Given the description of an element on the screen output the (x, y) to click on. 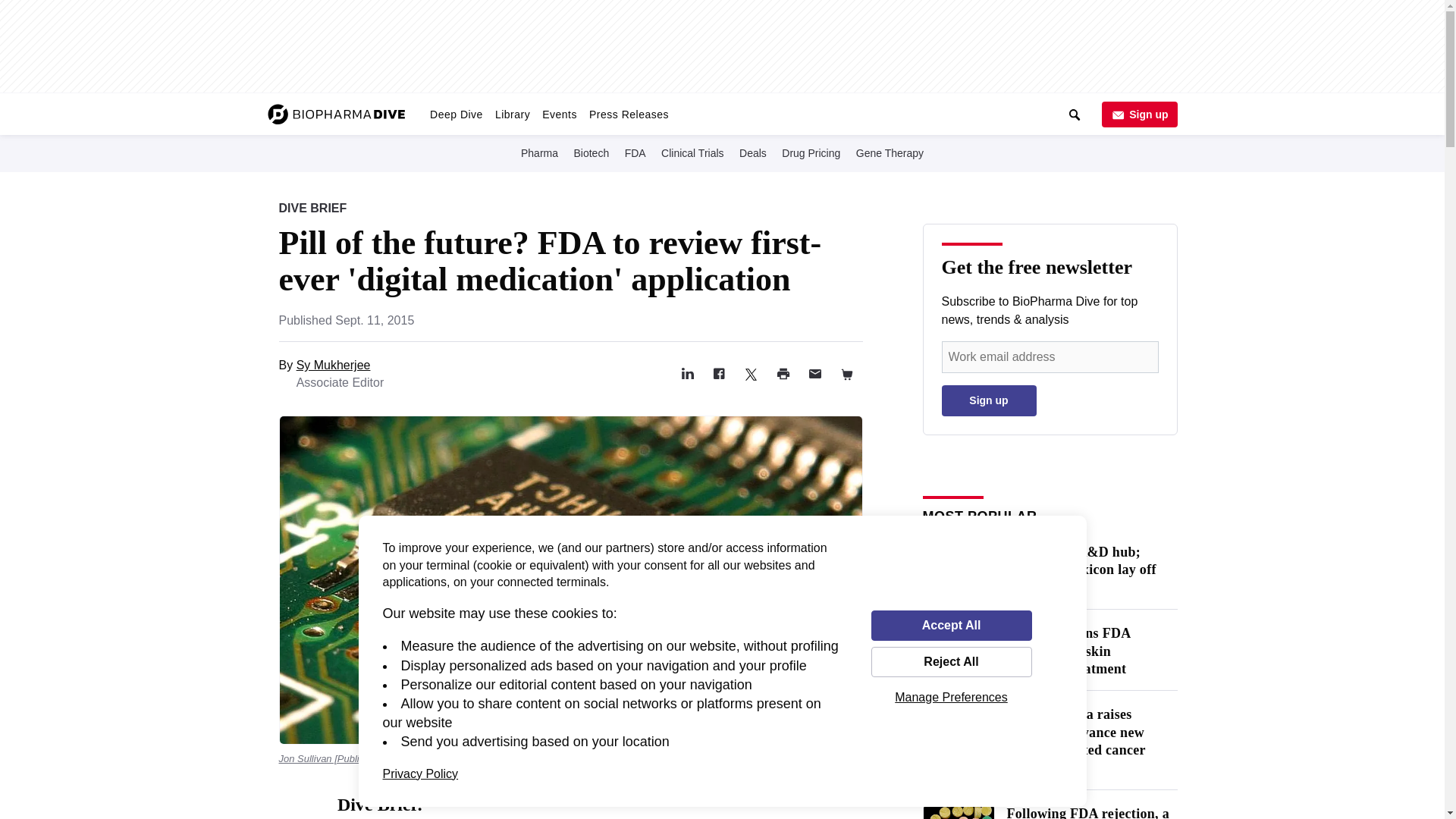
Clinical Trials (692, 152)
Drug Pricing (810, 152)
Accept All (950, 625)
Press Releases (629, 114)
Library (512, 114)
Sy Mukherjee (334, 364)
Privacy Policy (419, 773)
FDA (635, 152)
Deals (753, 152)
Reject All (950, 662)
